Given the description of an element on the screen output the (x, y) to click on. 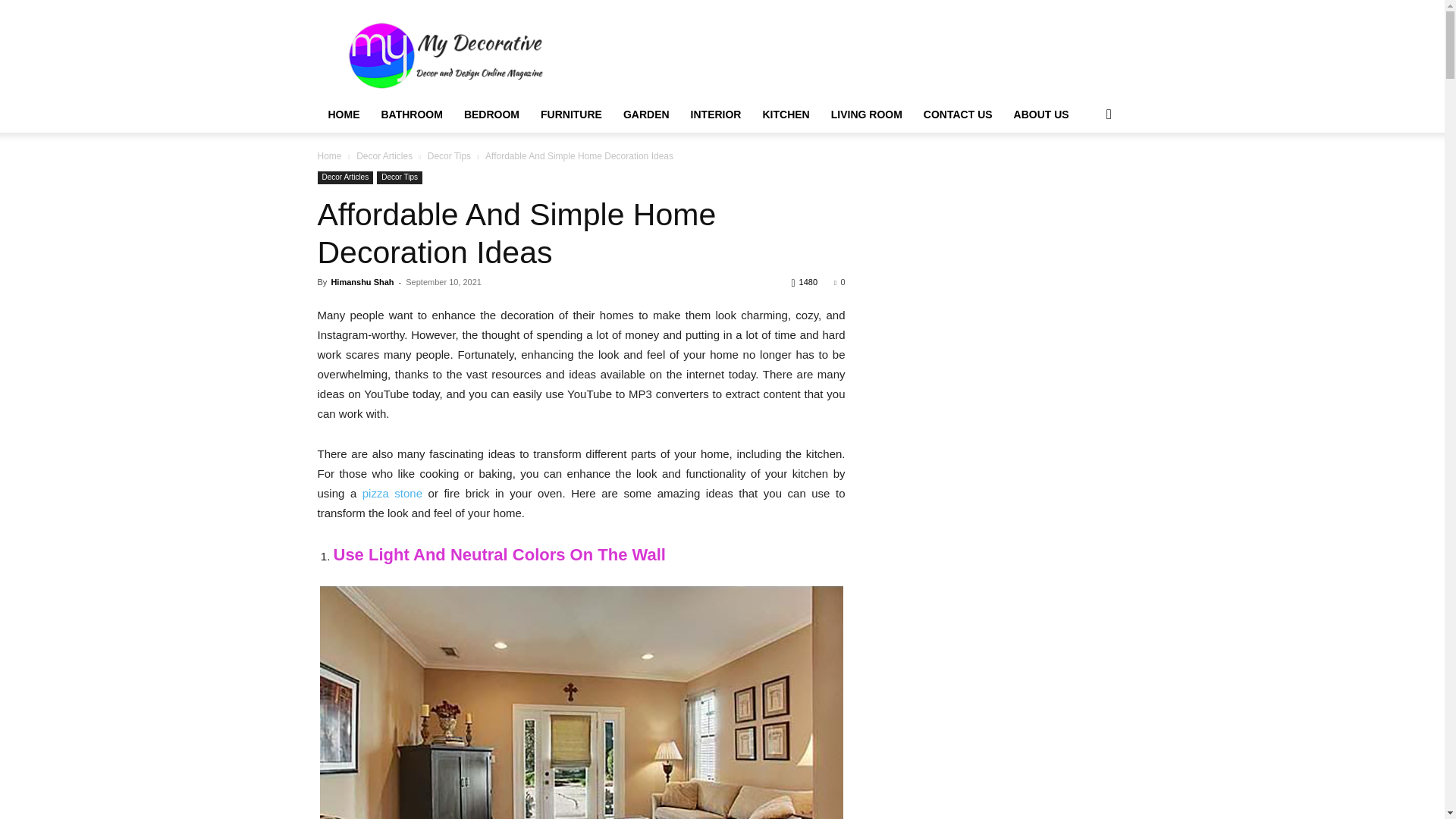
LIVING ROOM (866, 114)
Decor Tips (449, 155)
HOME (343, 114)
BEDROOM (490, 114)
Decor Articles (384, 155)
GARDEN (645, 114)
CONTACT US (957, 114)
Decor Tips (399, 177)
Search (1085, 174)
My Decorative (343, 114)
Home (328, 155)
BATHROOM (410, 114)
View all posts in Decor Tips (449, 155)
Neutral Colors On The Wall (581, 702)
KITCHEN (785, 114)
